Given the description of an element on the screen output the (x, y) to click on. 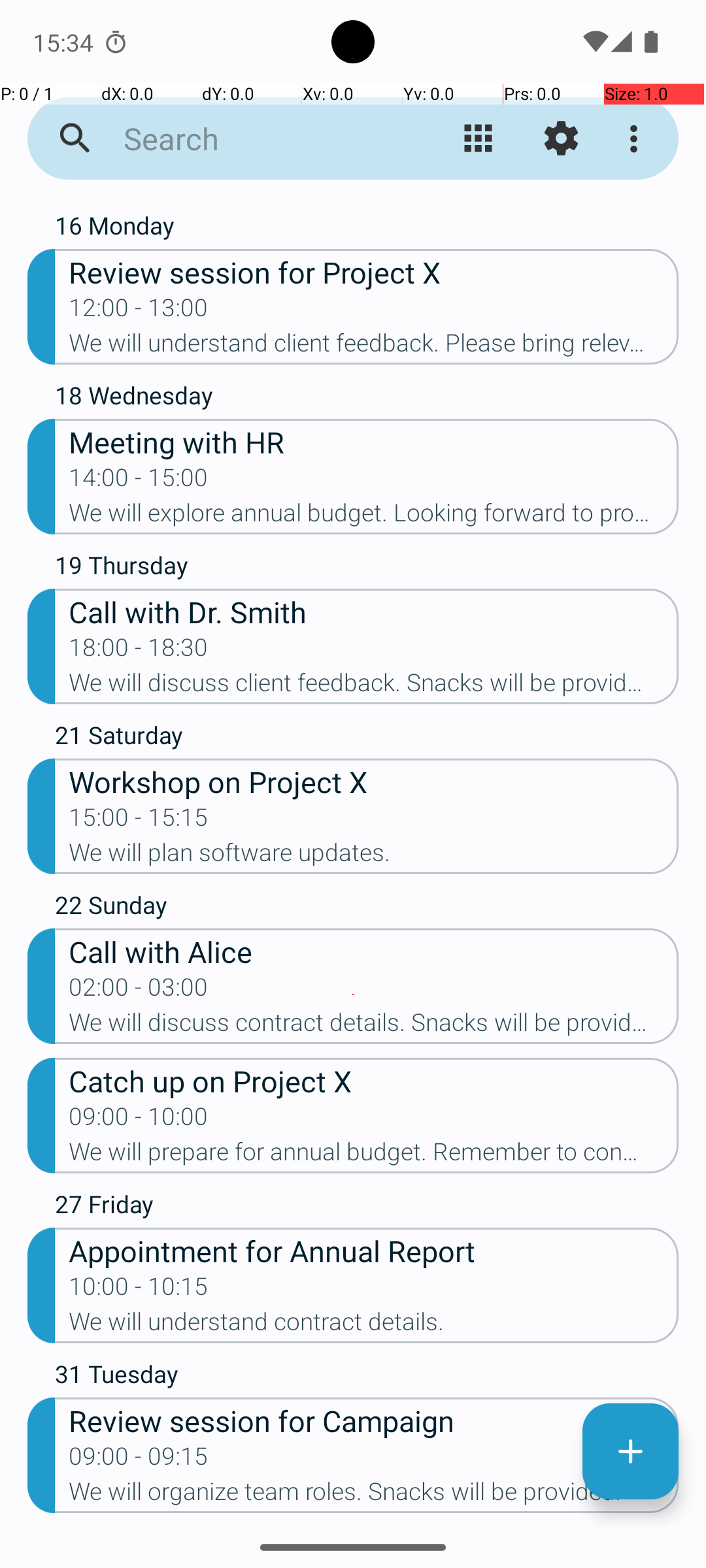
21 Saturday Element type: android.widget.TextView (366, 738)
27 Friday Element type: android.widget.TextView (366, 1207)
31 Tuesday Element type: android.widget.TextView (366, 1376)
12:00 - 13:00 Element type: android.widget.TextView (137, 311)
We will understand client feedback. Please bring relevant documents. Element type: android.widget.TextView (373, 346)
14:00 - 15:00 Element type: android.widget.TextView (137, 481)
We will explore annual budget. Looking forward to productive discussions. Element type: android.widget.TextView (373, 516)
18:00 - 18:30 Element type: android.widget.TextView (137, 651)
We will discuss client feedback. Snacks will be provided. Element type: android.widget.TextView (373, 686)
15:00 - 15:15 Element type: android.widget.TextView (137, 820)
We will plan software updates. Element type: android.widget.TextView (373, 856)
02:00 - 03:00 Element type: android.widget.TextView (137, 990)
We will discuss contract details. Snacks will be provided. Element type: android.widget.TextView (373, 1026)
09:00 - 10:00 Element type: android.widget.TextView (137, 1120)
We will prepare for annual budget. Remember to confirm attendance. Element type: android.widget.TextView (373, 1155)
10:00 - 10:15 Element type: android.widget.TextView (137, 1289)
We will understand contract details. Element type: android.widget.TextView (373, 1325)
09:00 - 09:15 Element type: android.widget.TextView (137, 1459)
We will organize team roles. Snacks will be provided. Element type: android.widget.TextView (373, 1495)
